Given the description of an element on the screen output the (x, y) to click on. 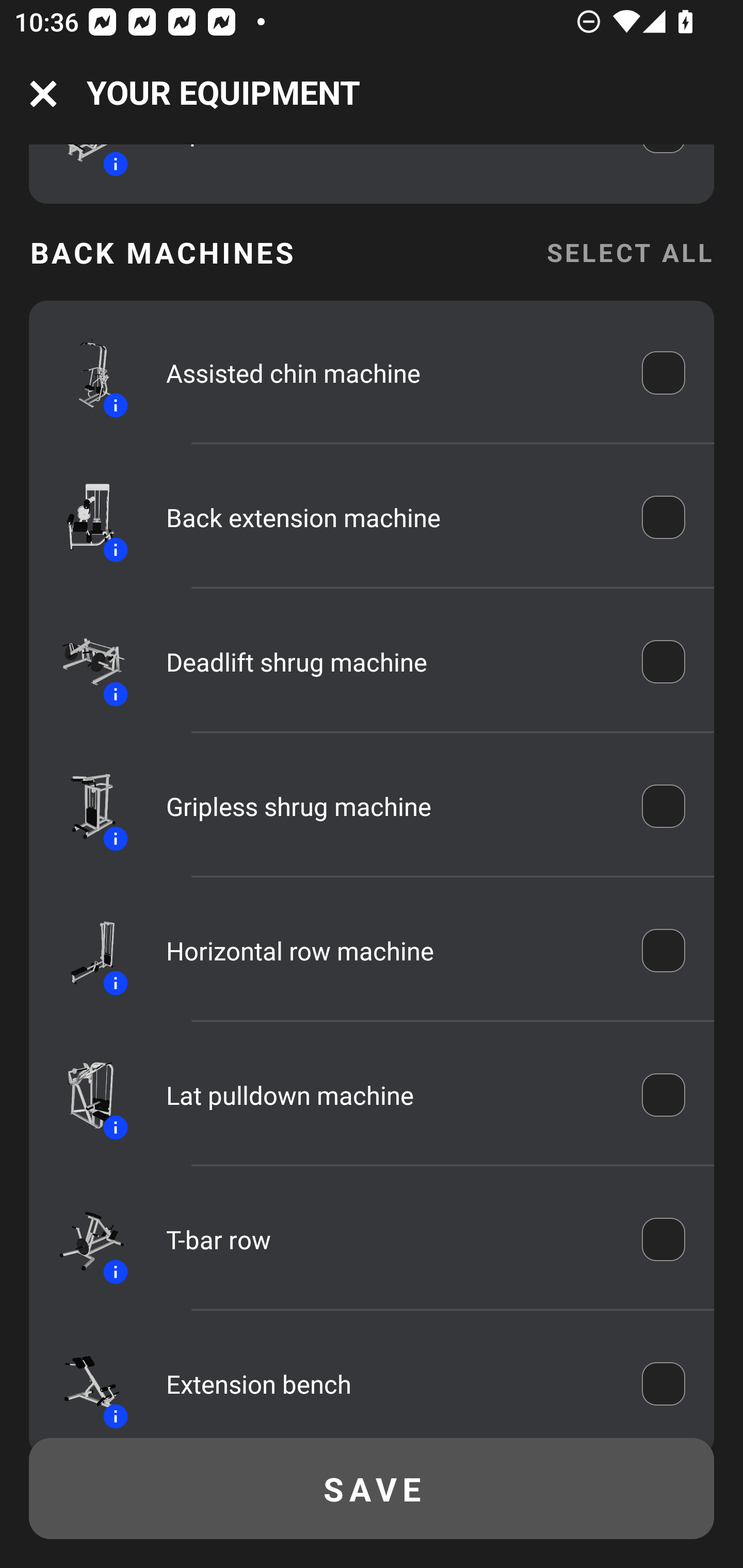
Navigation icon (43, 93)
SELECT ALL (629, 251)
Equipment icon Information icon (82, 372)
Assisted chin machine (389, 372)
Equipment icon Information icon (82, 516)
Back extension machine (389, 517)
Equipment icon Information icon (82, 662)
Deadlift shrug machine (389, 661)
Equipment icon Information icon (82, 806)
Gripless shrug machine (389, 806)
Equipment icon Information icon (82, 950)
Horizontal row machine (389, 950)
Equipment icon Information icon (82, 1095)
Lat pulldown machine (389, 1095)
Equipment icon Information icon (82, 1239)
T-bar row (389, 1239)
Equipment icon Information icon (82, 1383)
Extension bench (389, 1383)
SAVE (371, 1488)
